Given the description of an element on the screen output the (x, y) to click on. 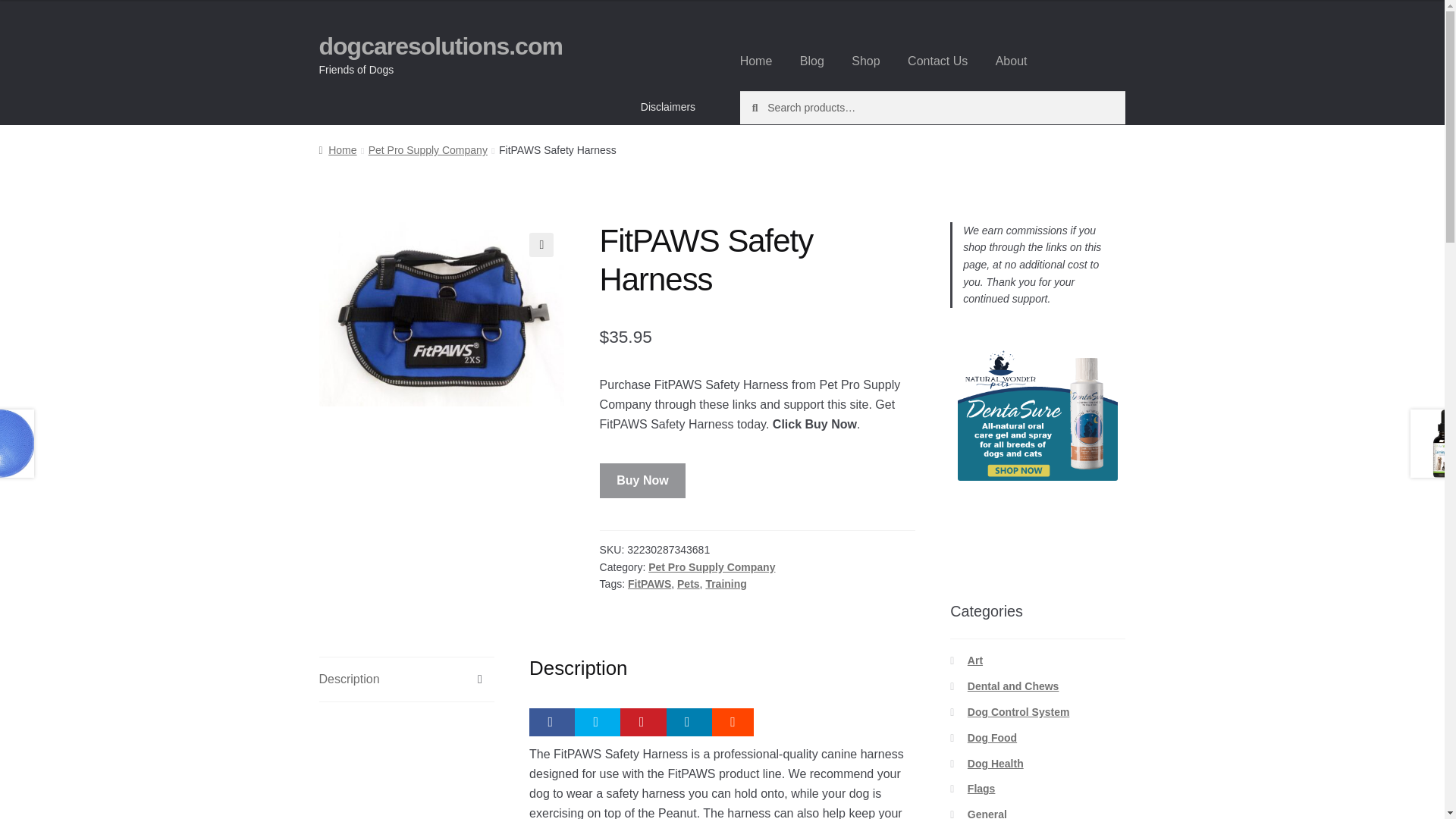
Pet Pro Supply Company (427, 150)
dogcaresolutions.com (440, 45)
house-training-fitpaws-safety-harness-1 (441, 313)
FitPAWS (649, 583)
Pet Pro Supply Company (710, 567)
Home (337, 150)
Buy Now (642, 480)
Training (724, 583)
Disclaimers (667, 106)
Home (756, 60)
Description (406, 679)
About (1011, 60)
Pets (688, 583)
Contact Us (937, 60)
